Given the description of an element on the screen output the (x, y) to click on. 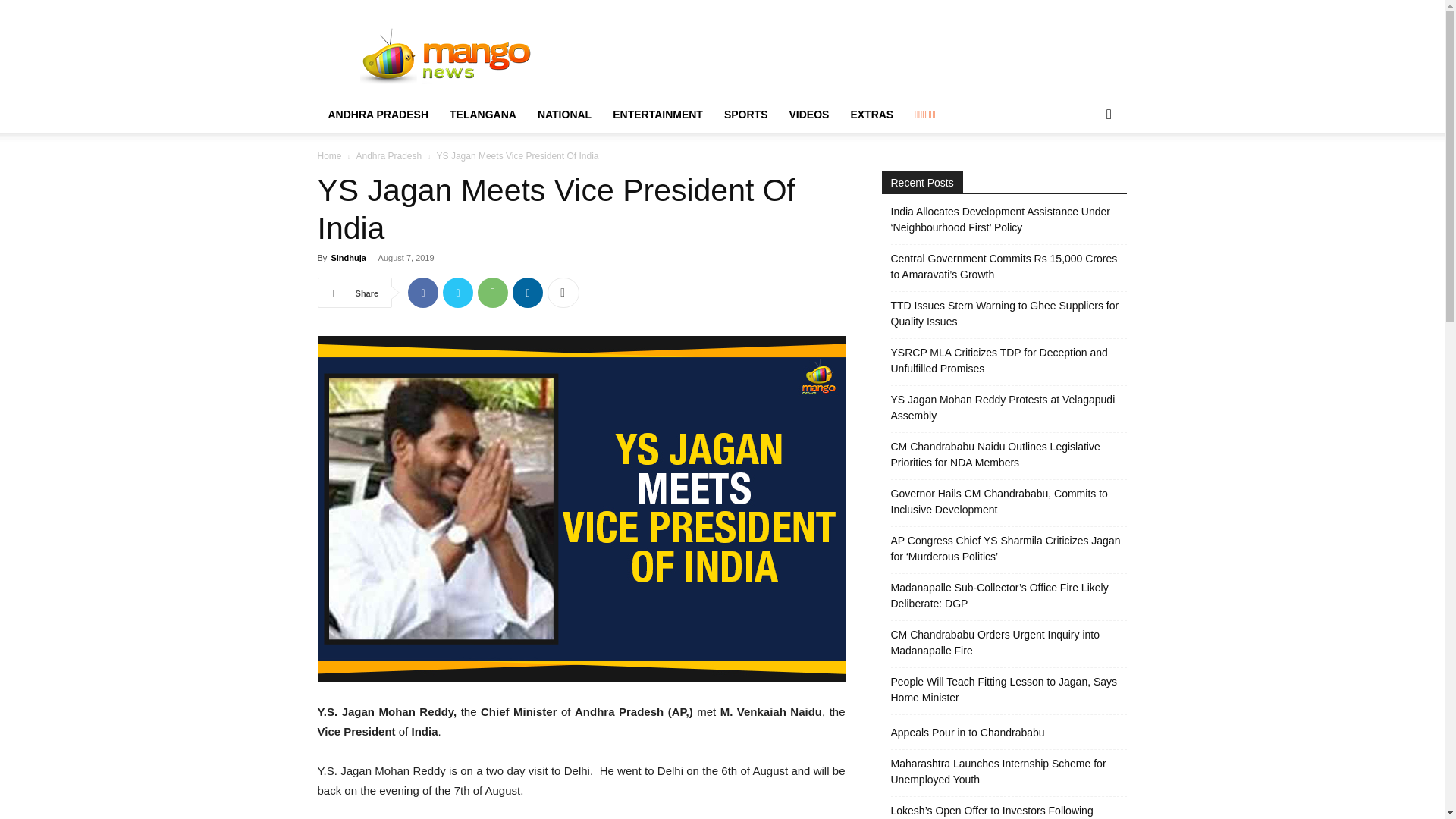
The Mango News (445, 55)
